Given the description of an element on the screen output the (x, y) to click on. 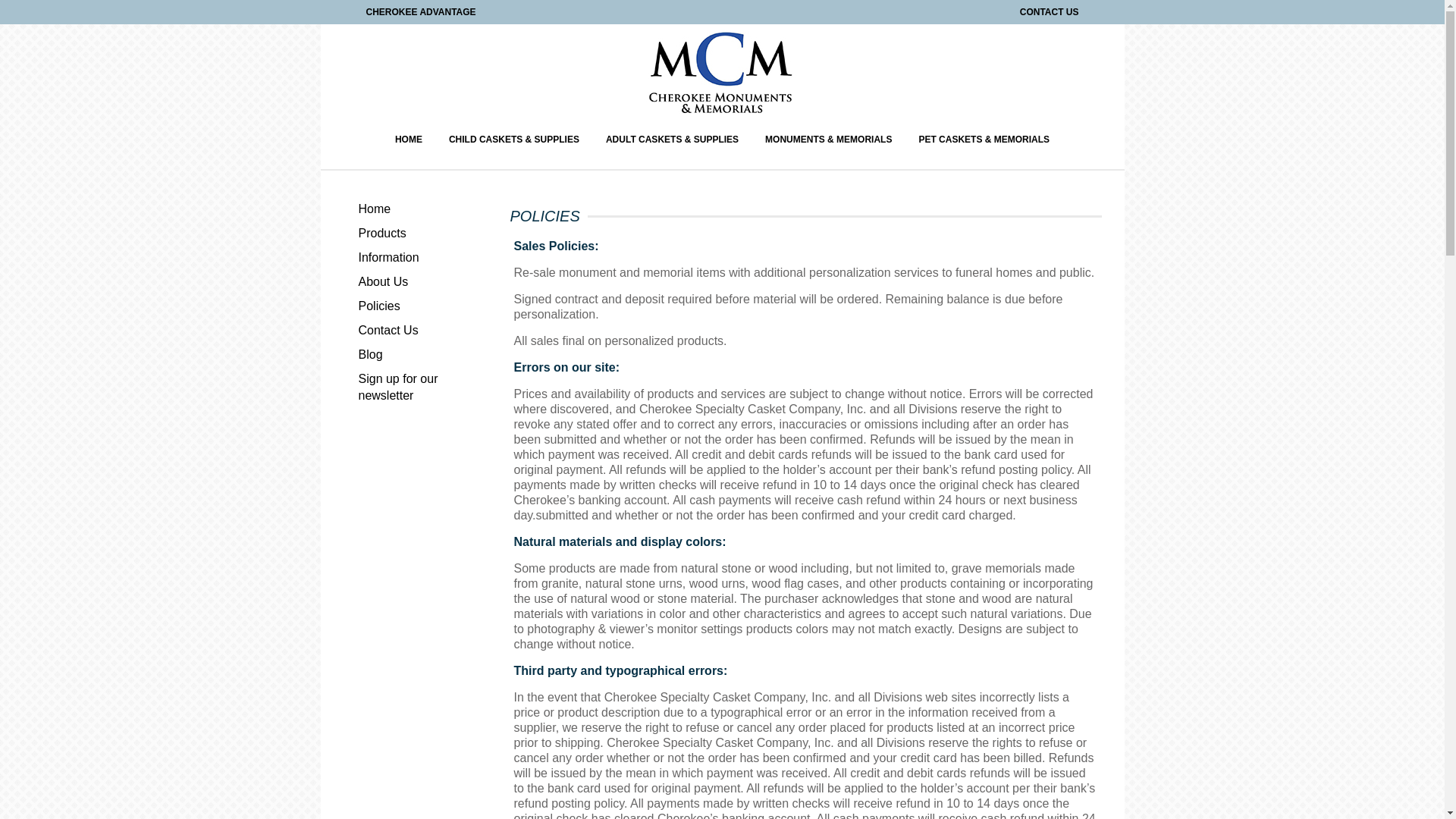
CONTACT US (1049, 11)
